Given the description of an element on the screen output the (x, y) to click on. 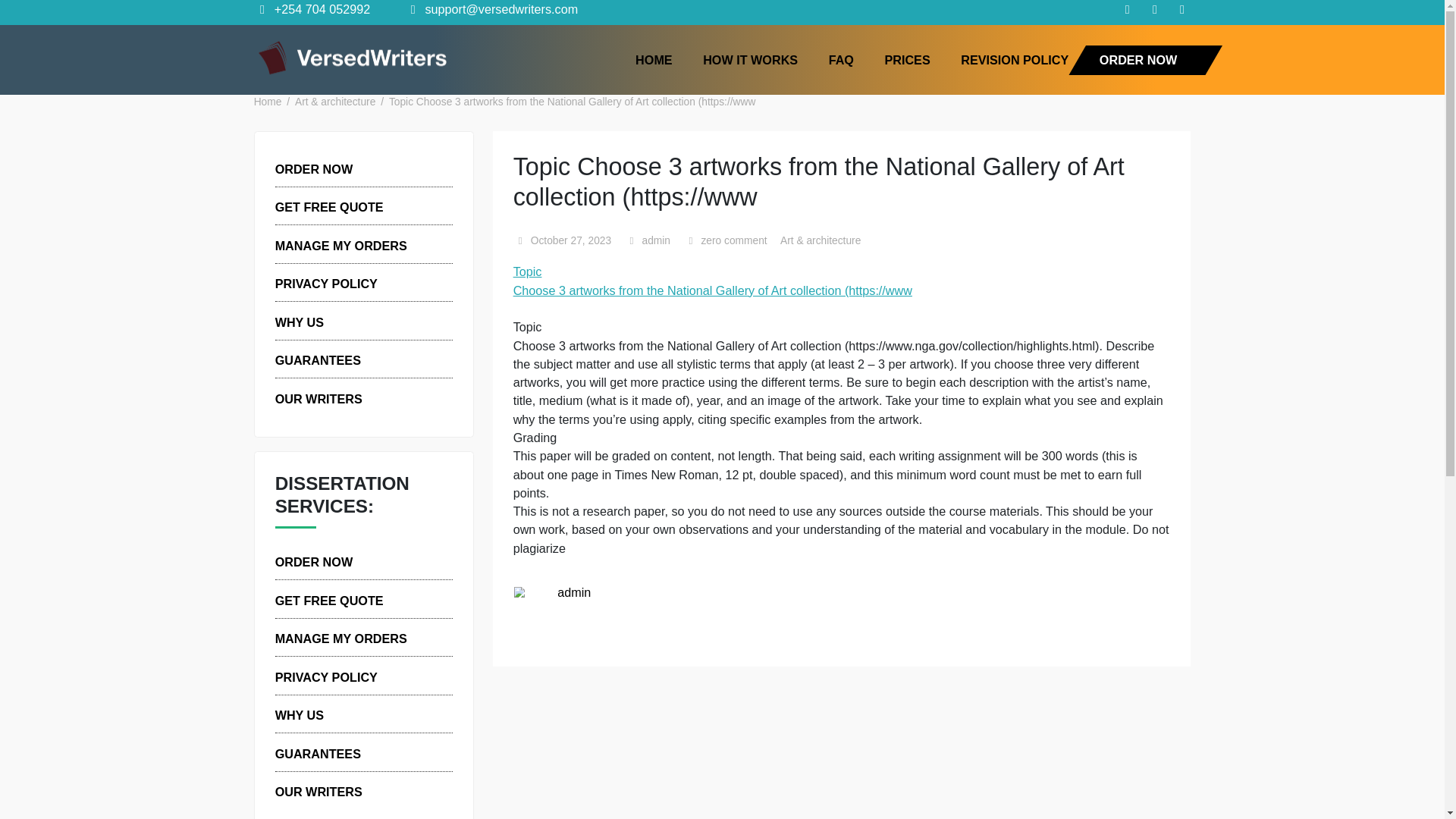
October 27, 2023 (633, 267)
FAQ (934, 65)
MANAGE MY ORDERS (378, 710)
PRICES (1008, 65)
admin (719, 267)
ORDER NOW (348, 187)
WHY US (332, 357)
OUR WRITERS (354, 443)
admin (638, 658)
WHY US (332, 795)
